Given the description of an element on the screen output the (x, y) to click on. 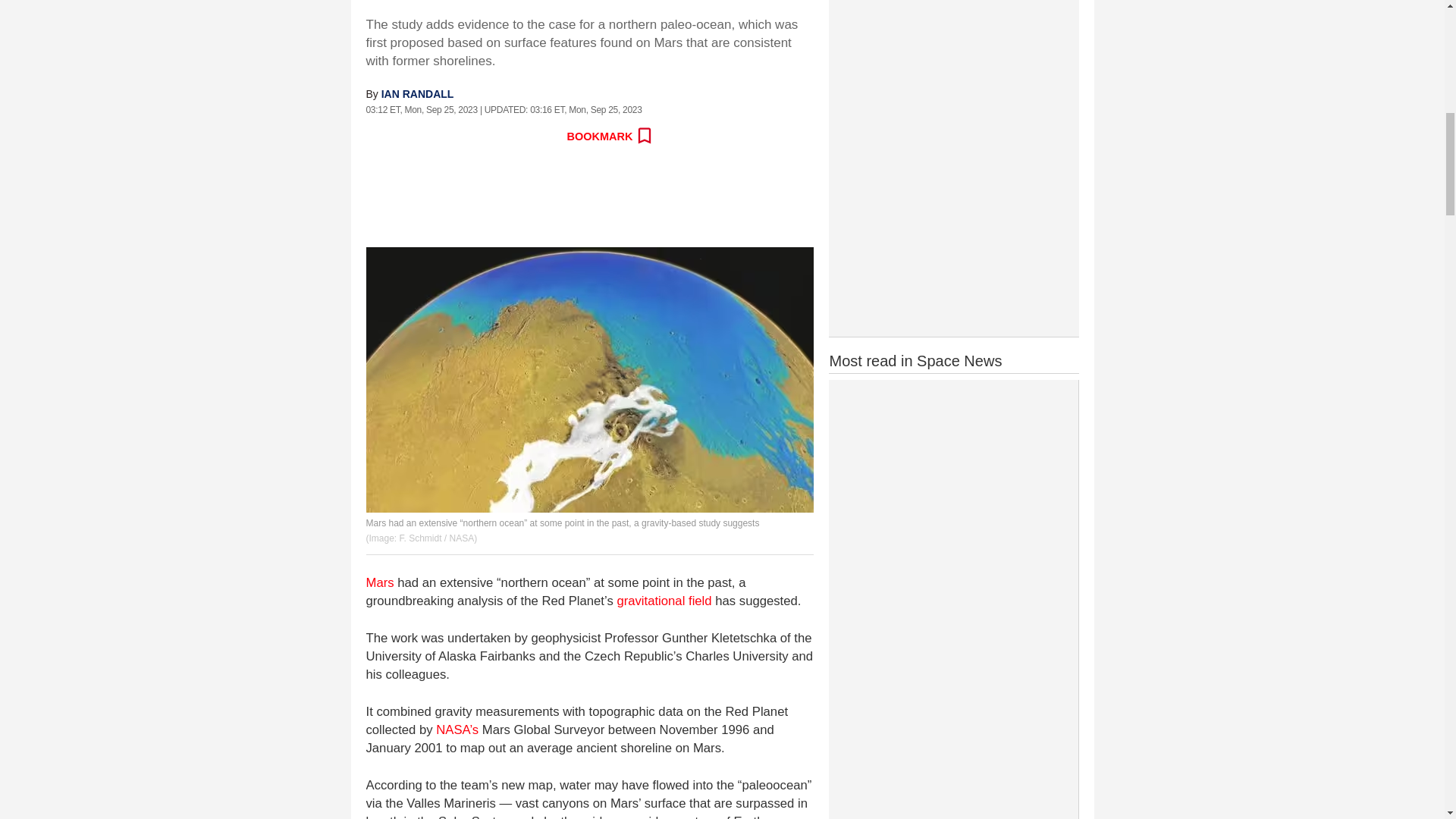
An illustration of the northern Martian ocean (588, 379)
IAN RANDALL (417, 93)
Mars (379, 582)
Share on Facebook (378, 136)
Share on Pinterest (511, 136)
gravitational field (663, 600)
Share on Twitter (411, 136)
Copy link (544, 136)
Share on Reddit (445, 136)
Share on LinkedIn (478, 136)
